Given the description of an element on the screen output the (x, y) to click on. 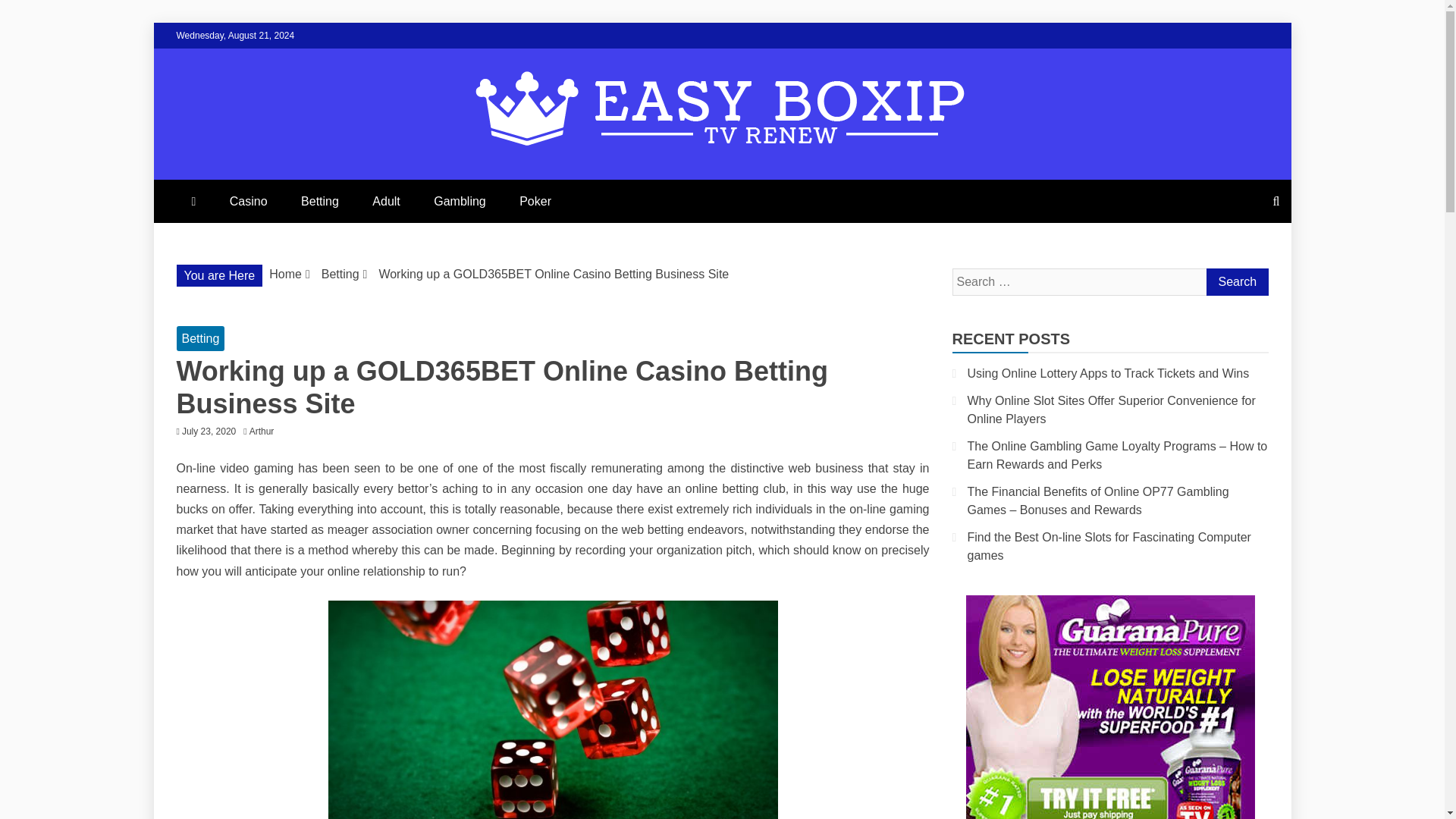
Poker (534, 200)
Arthur (265, 430)
Gambling (459, 200)
Home (285, 273)
Search (1236, 281)
Betting (319, 200)
Adult (385, 200)
Using Online Lottery Apps to Track Tickets and Wins (1108, 373)
